Given the description of an element on the screen output the (x, y) to click on. 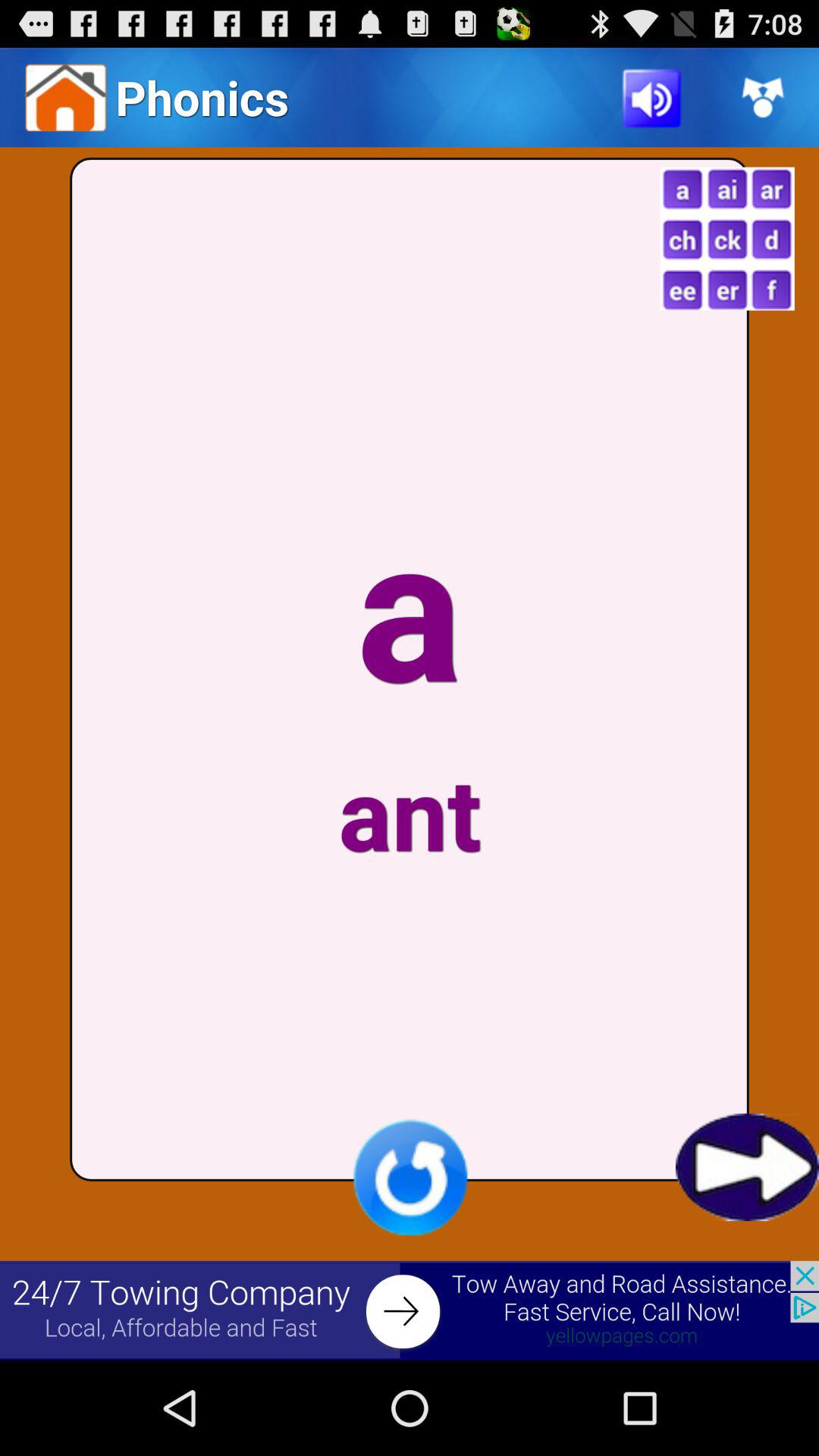
enter letters (727, 238)
